Given the description of an element on the screen output the (x, y) to click on. 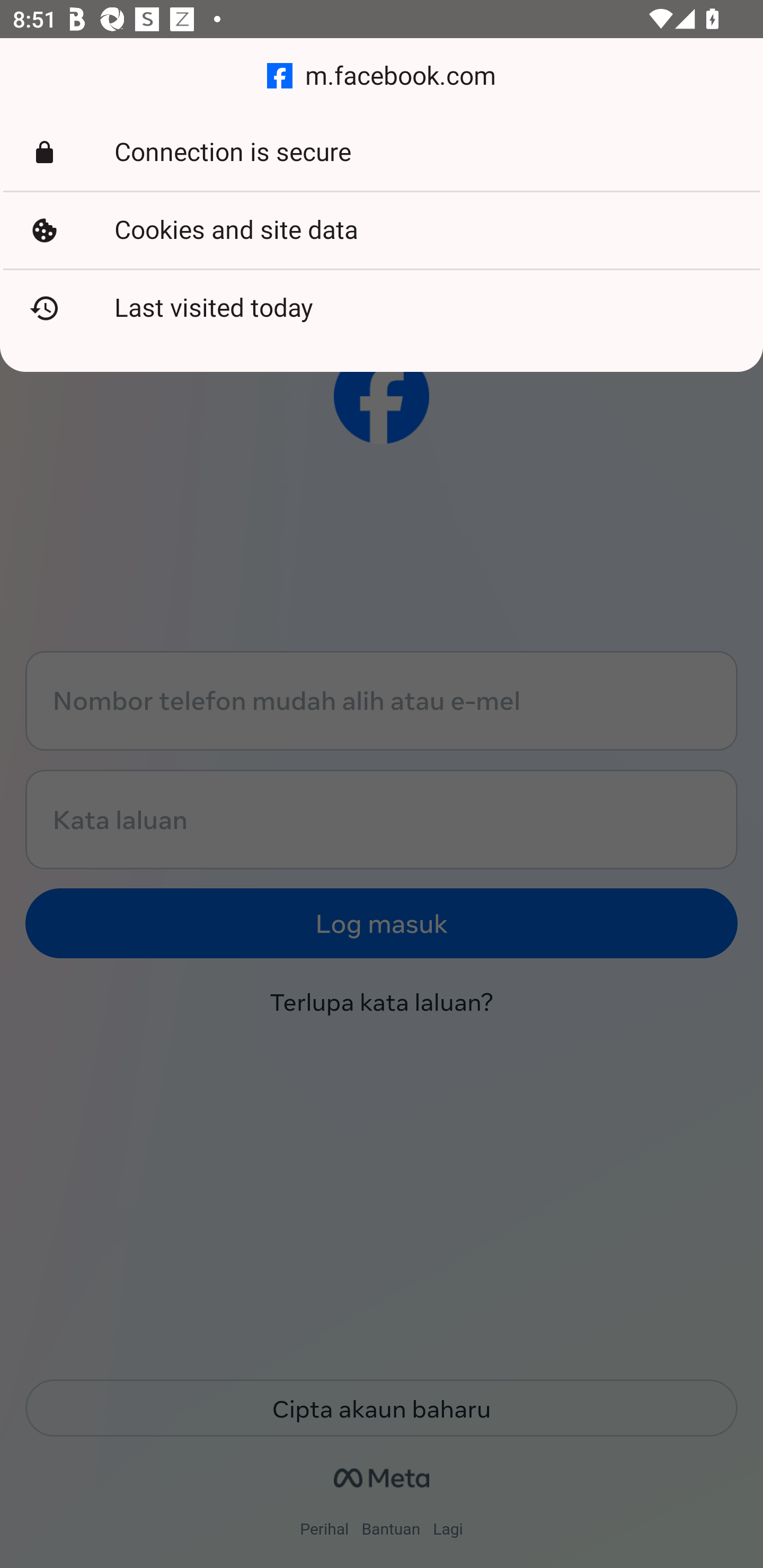
m.facebook.com (381, 75)
Connection is secure (381, 152)
Cookies and site data (381, 230)
Last visited today (381, 307)
